Given the description of an element on the screen output the (x, y) to click on. 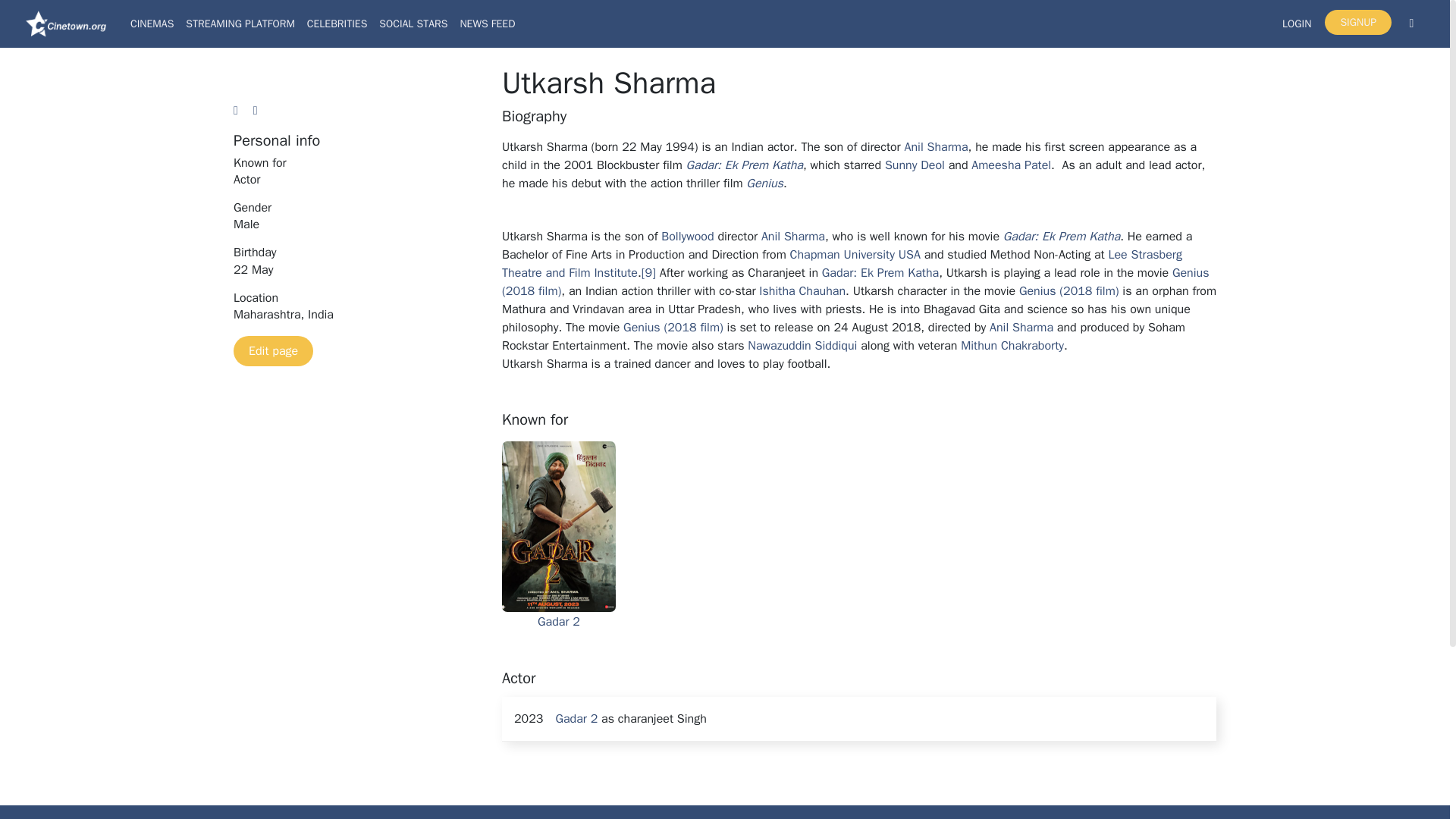
CELEBRITIES (336, 23)
Gadar: Ek Prem Katha (880, 272)
Bollywood (687, 236)
Gadar: Ek Prem Katha (1061, 236)
Anil Sharma (793, 236)
Sunny Deol (914, 165)
STREAMING PLATFORM (240, 23)
Ishitha Chauhan (801, 290)
Genius (764, 183)
LOGIN (1296, 23)
Gadar: Ek Prem Katha (744, 165)
SIGNUP (1357, 22)
SOCIAL STARS (412, 23)
Edit page (272, 350)
Ameesha Patel (1011, 165)
